Given the description of an element on the screen output the (x, y) to click on. 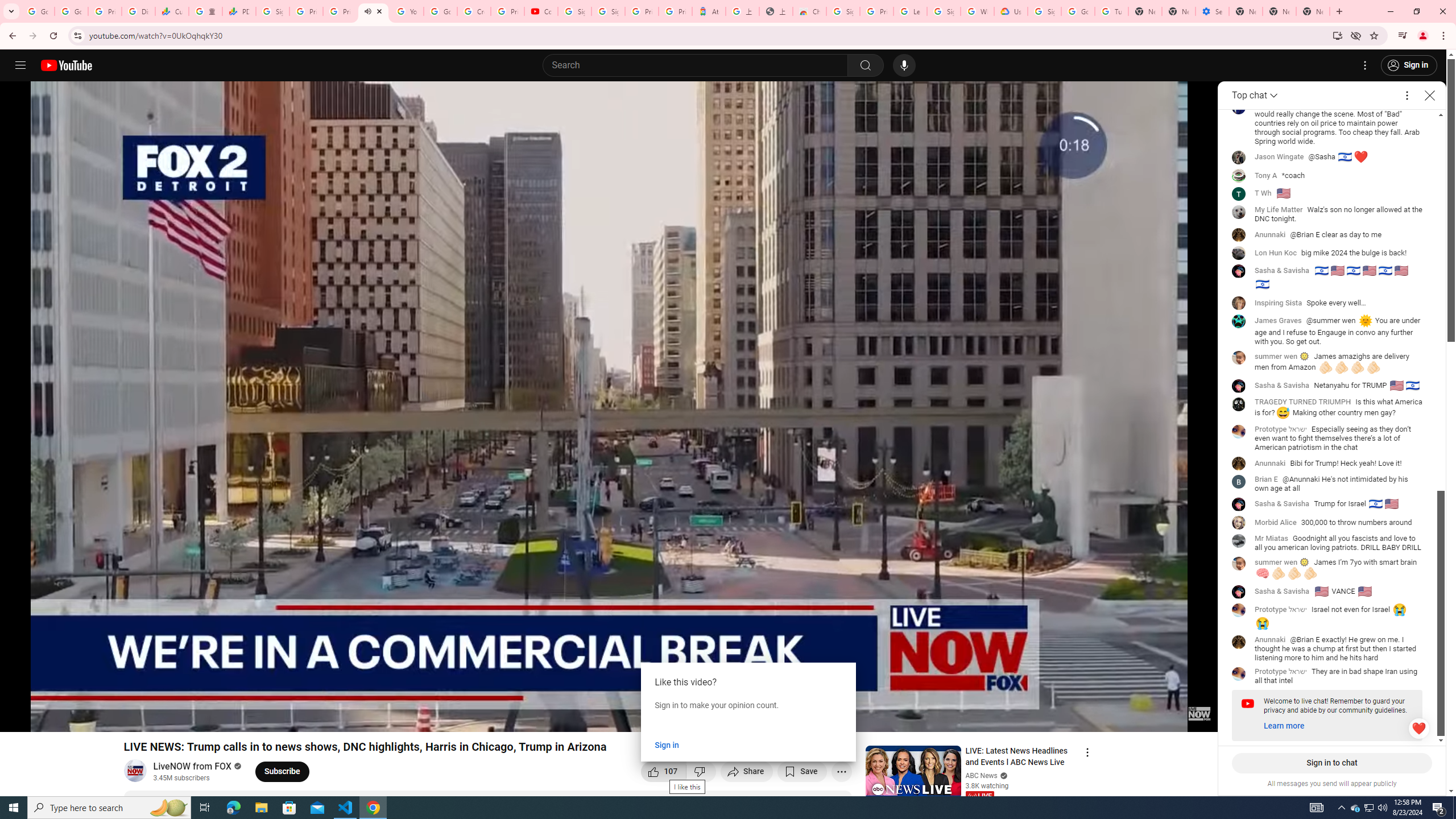
Sign in - Google Accounts (1043, 11)
Privacy Checkup (339, 11)
YouTube Home (66, 65)
Skip ahead to live broadcast. (102, 718)
Subscribe to LiveNOW from FOX. (281, 771)
Mute (m) (73, 718)
Miniplayer (i) (1142, 718)
Sign in to chat (1331, 762)
Sign in - Google Accounts (842, 11)
